Given the description of an element on the screen output the (x, y) to click on. 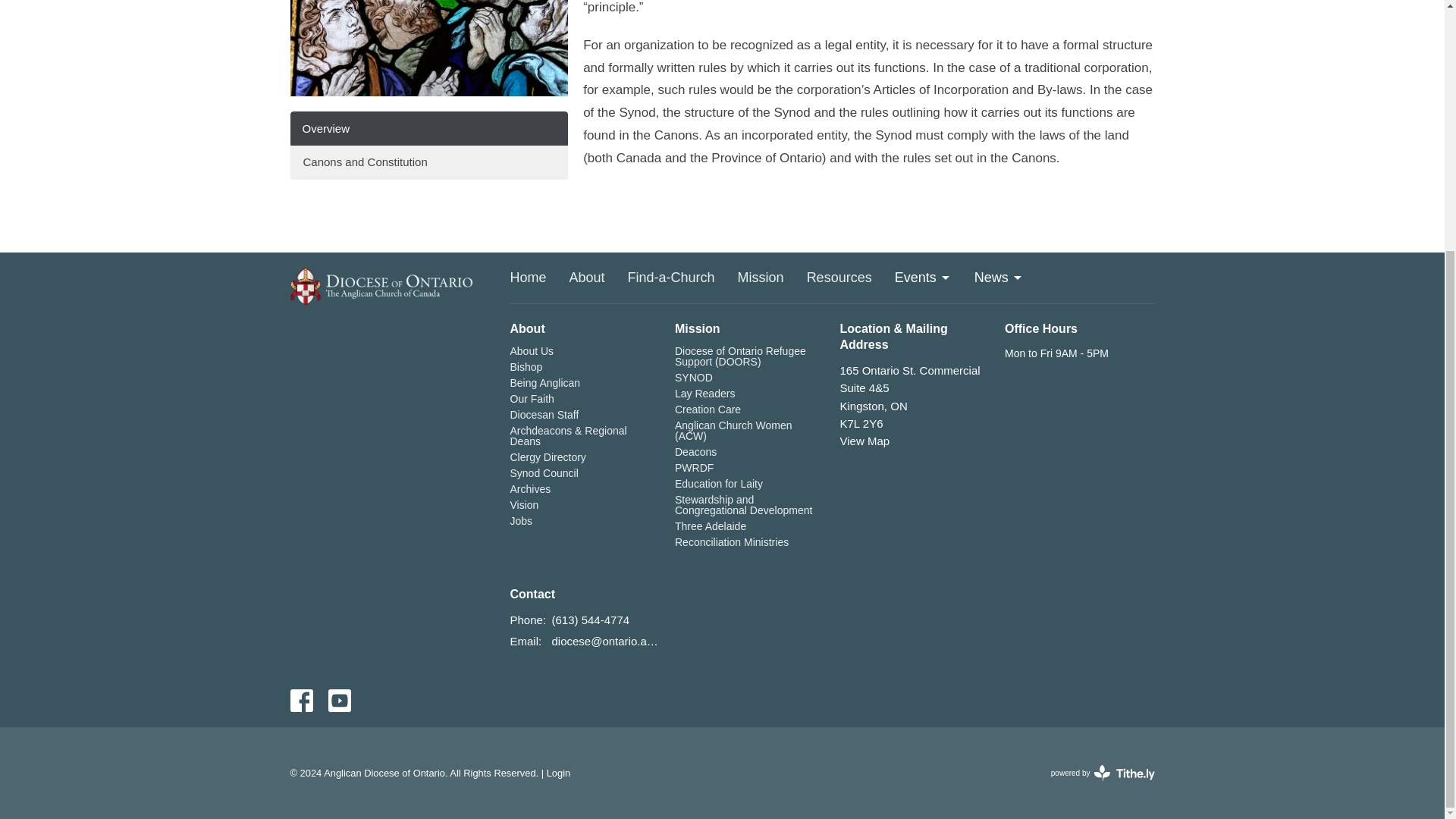
About (587, 278)
translation missing: en.ui.email (523, 640)
Find-a-Church (670, 278)
About Us (531, 350)
Events (923, 278)
Diocesan Staff (543, 414)
Overview (428, 128)
Our Faith (531, 398)
Home (527, 278)
Resources (839, 278)
Canons and Constitution (428, 161)
News (998, 278)
Mission (761, 278)
Bishop (525, 367)
Being Anglican (544, 382)
